Given the description of an element on the screen output the (x, y) to click on. 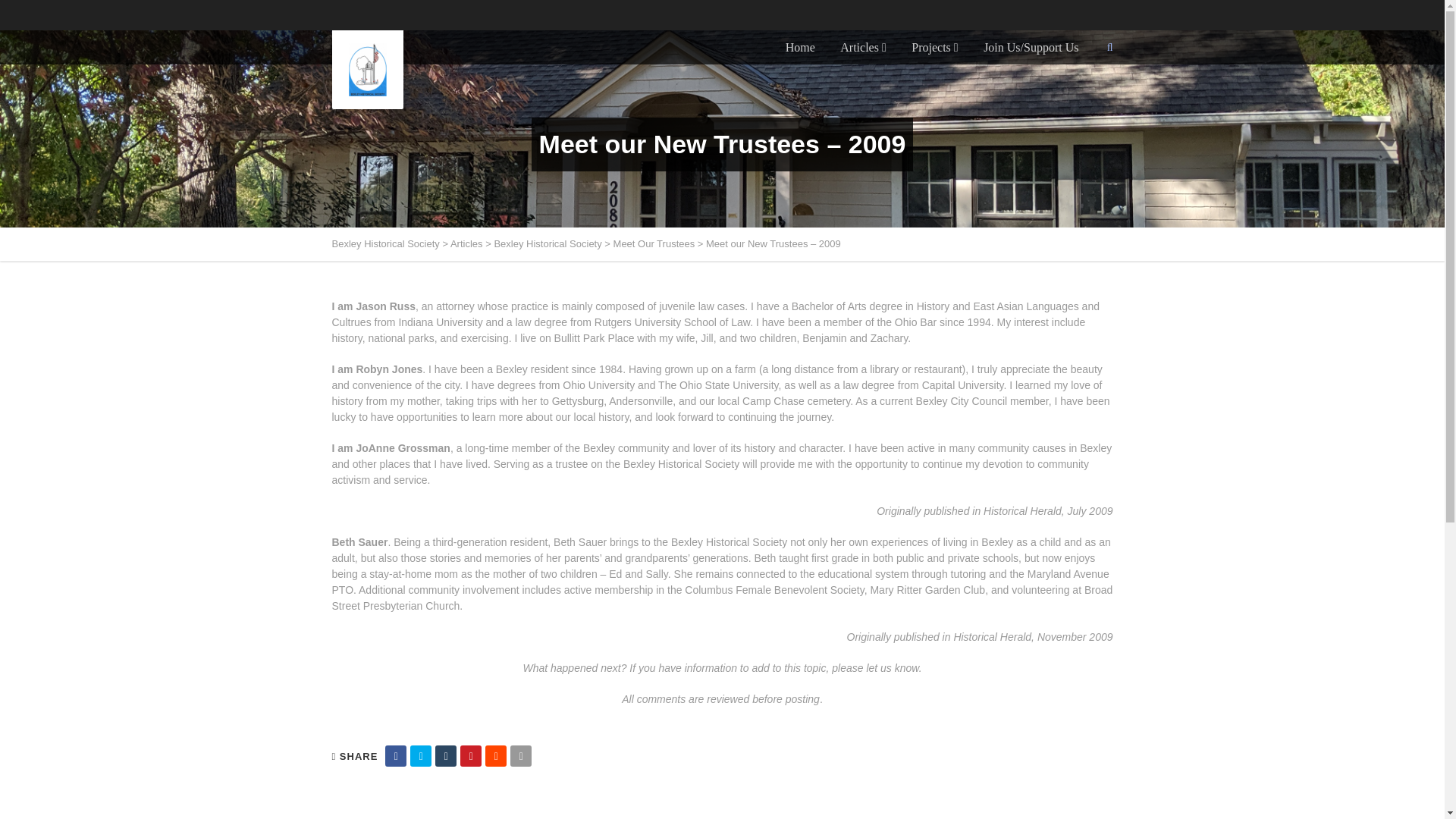
Share on Facebook (395, 754)
Submit to Reddit (495, 754)
Articles (466, 243)
Go to Articles. (466, 243)
Go to Meet Our Trustees. (653, 243)
Meet Our Trustees (653, 243)
Go to Bexley Historical Society. (385, 243)
Projects (934, 47)
Bexley Historical Society (547, 243)
Email (521, 754)
